Given the description of an element on the screen output the (x, y) to click on. 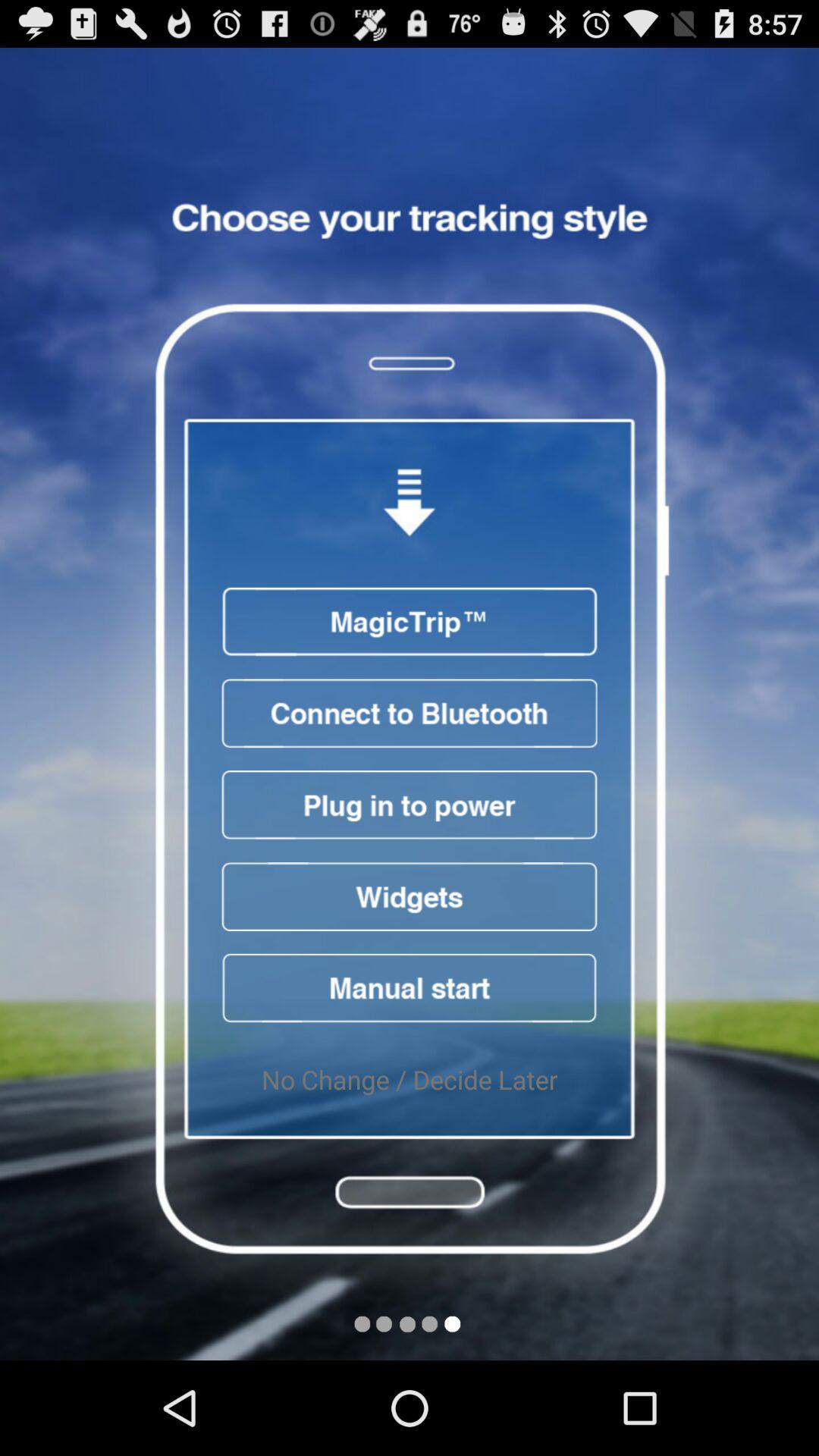
click to start manually (409, 987)
